Given the description of an element on the screen output the (x, y) to click on. 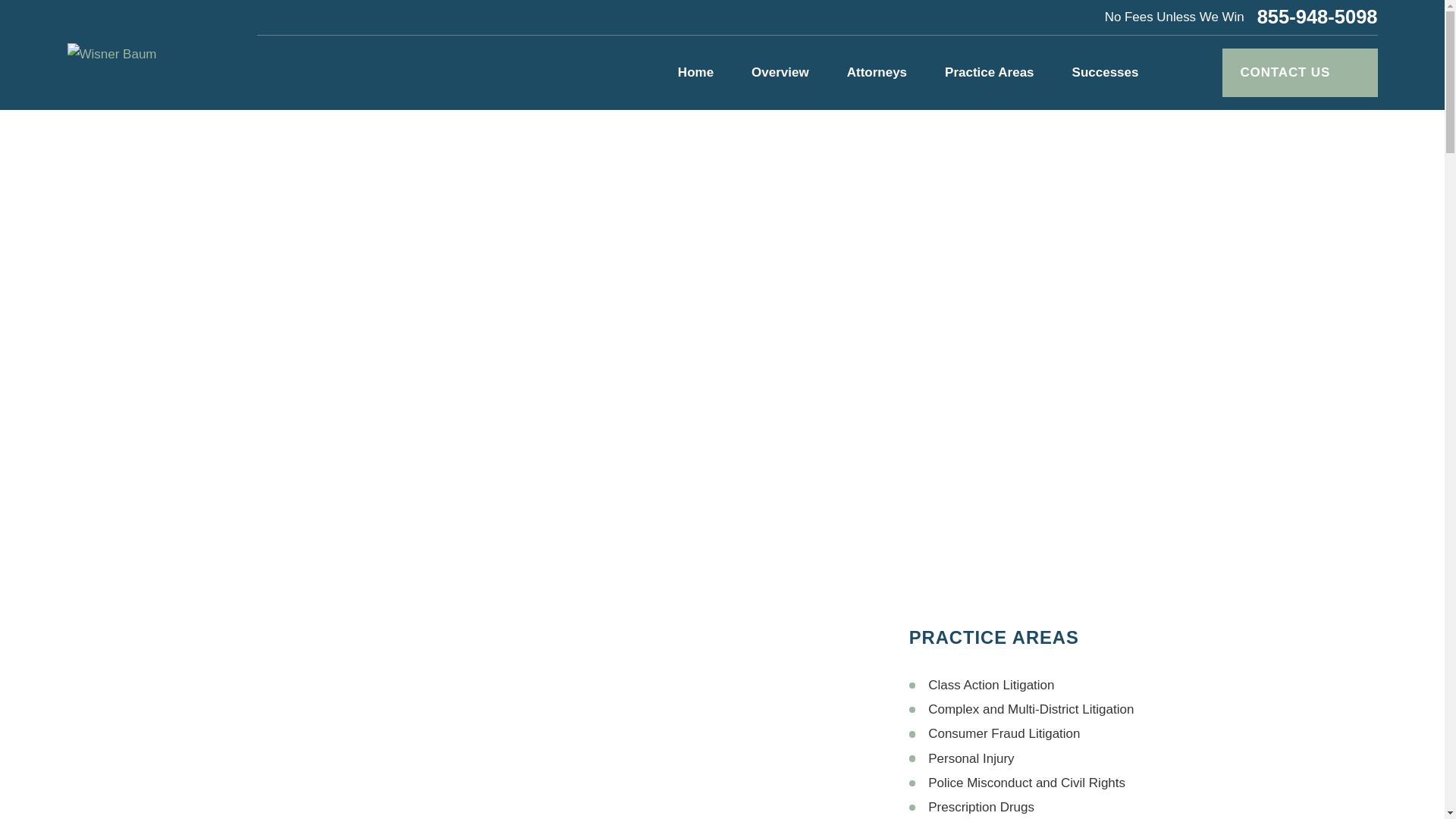
Wisner Baum (110, 54)
Practice Areas (988, 72)
Search Our Site (1192, 72)
855-948-5098 (1317, 17)
Home (110, 54)
Home (695, 72)
Attorneys (877, 72)
Overview (780, 72)
